Given the description of an element on the screen output the (x, y) to click on. 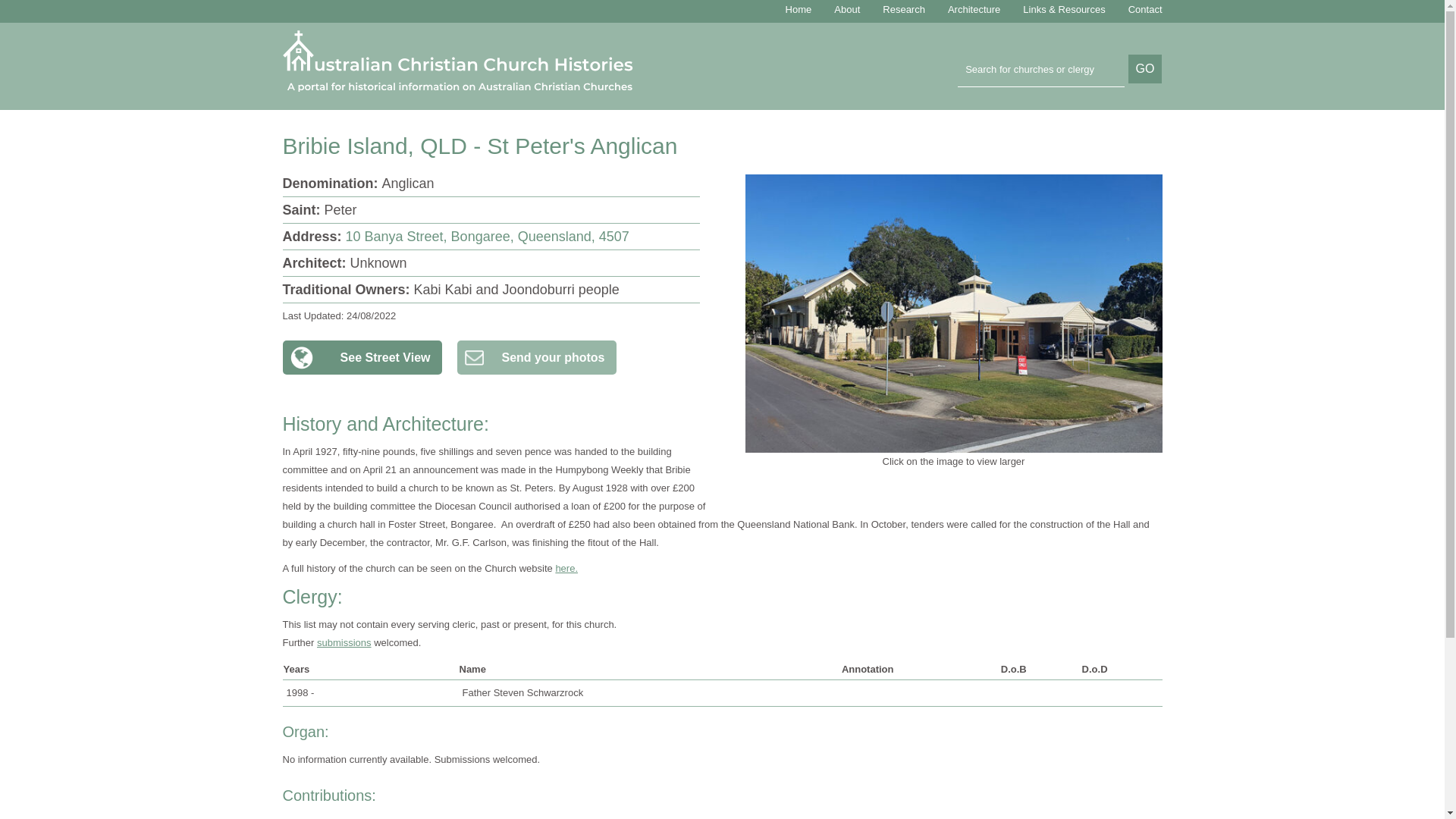
Send your photos (536, 357)
Home (799, 9)
here. (566, 568)
Contact (1144, 9)
Architecture (973, 9)
GO (1144, 68)
Australian Christian Church Histories (467, 60)
About (847, 9)
See Street View (361, 357)
Research (903, 9)
